Given the description of an element on the screen output the (x, y) to click on. 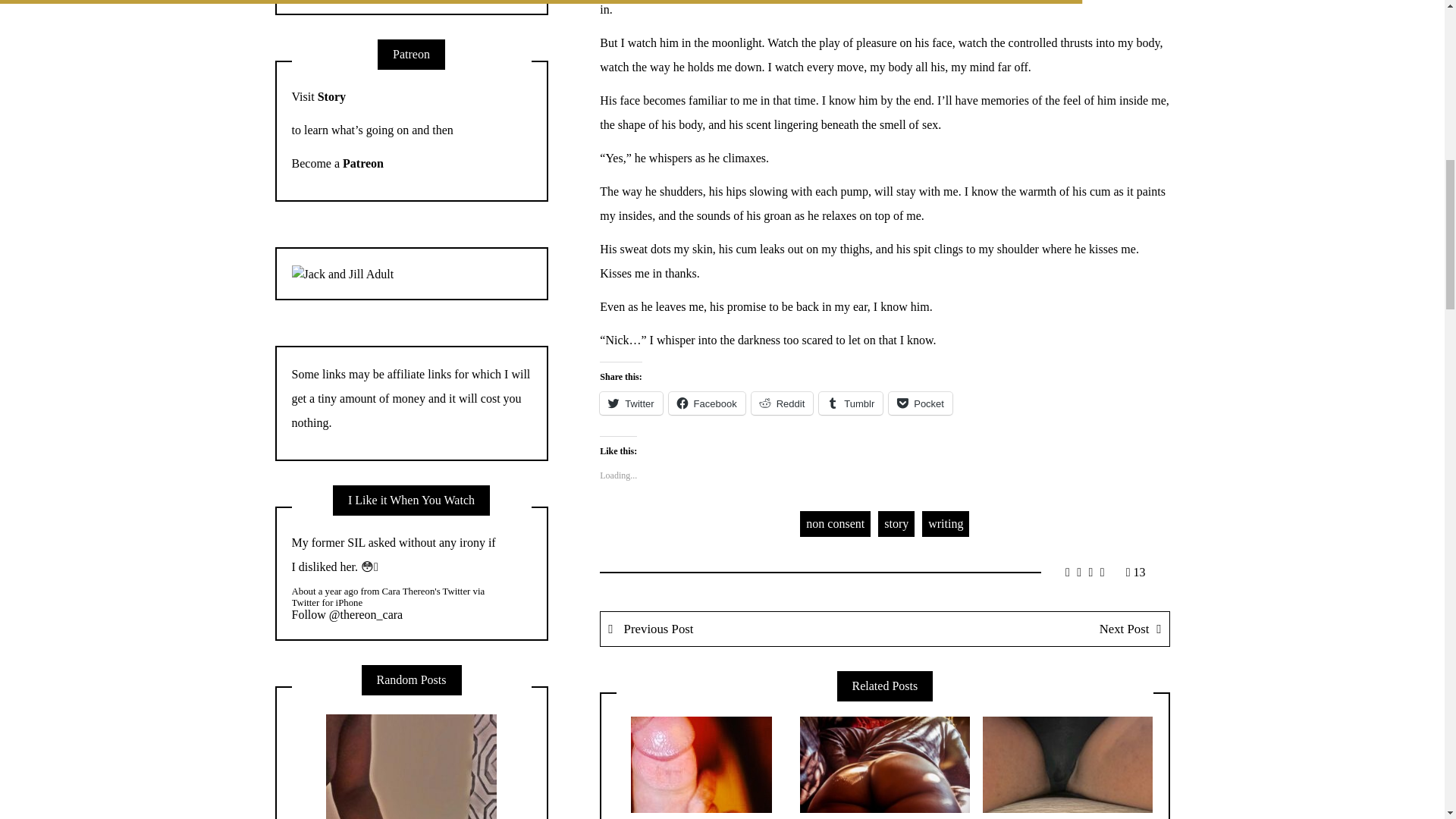
Facebook (706, 403)
Click to share on Twitter (630, 403)
Click to share on Reddit (782, 403)
Click to share on Pocket (920, 403)
Twitter (630, 403)
Permalink to: "Chastity" (1067, 764)
Click to share on Tumblr (850, 403)
Permalink to: "Substitute Servant" (700, 764)
Click to share on Facebook (706, 403)
Jack and Jill Adult (343, 272)
